Given the description of an element on the screen output the (x, y) to click on. 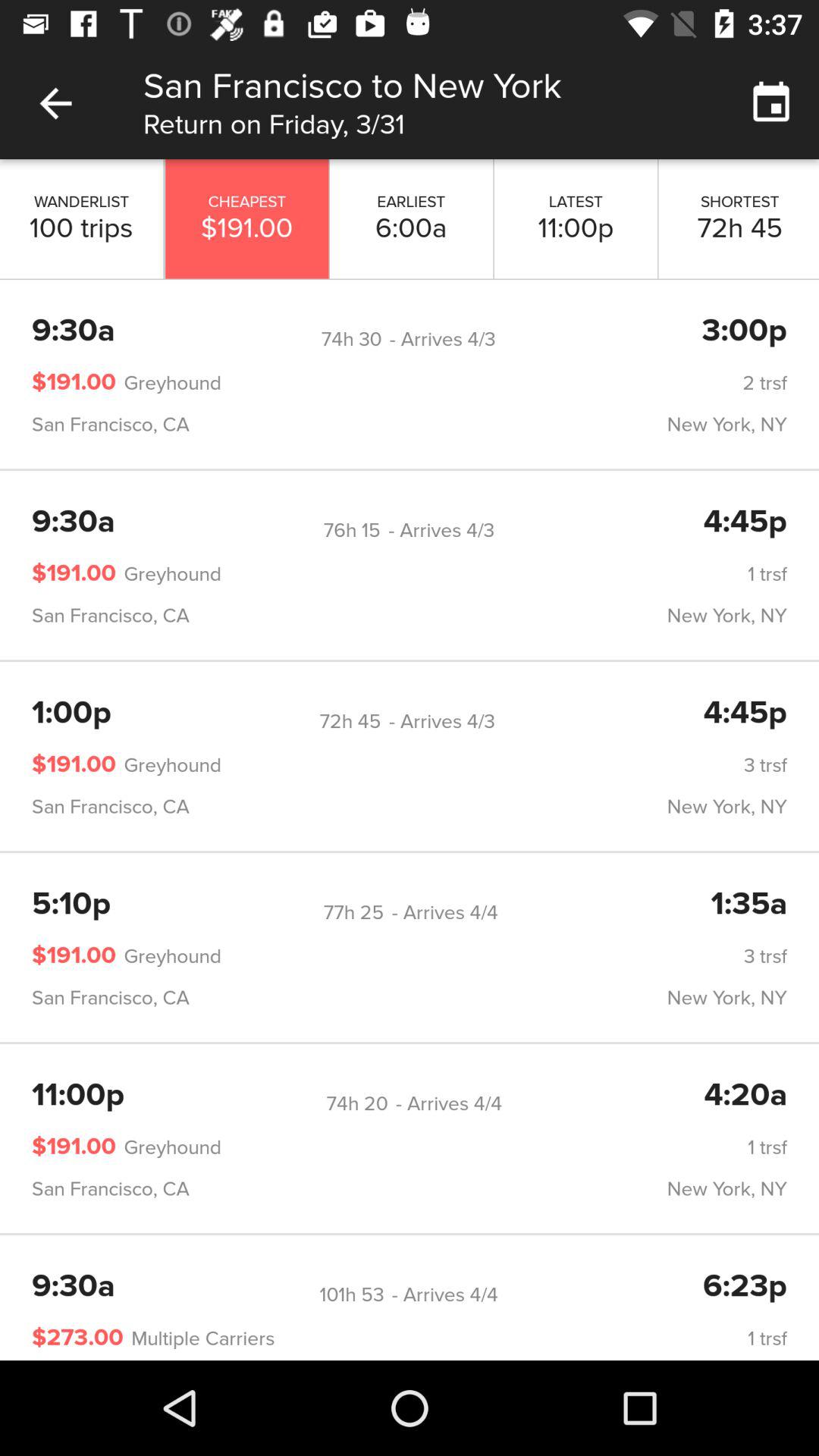
click icon to the right of 9:30a (351, 339)
